Given the description of an element on the screen output the (x, y) to click on. 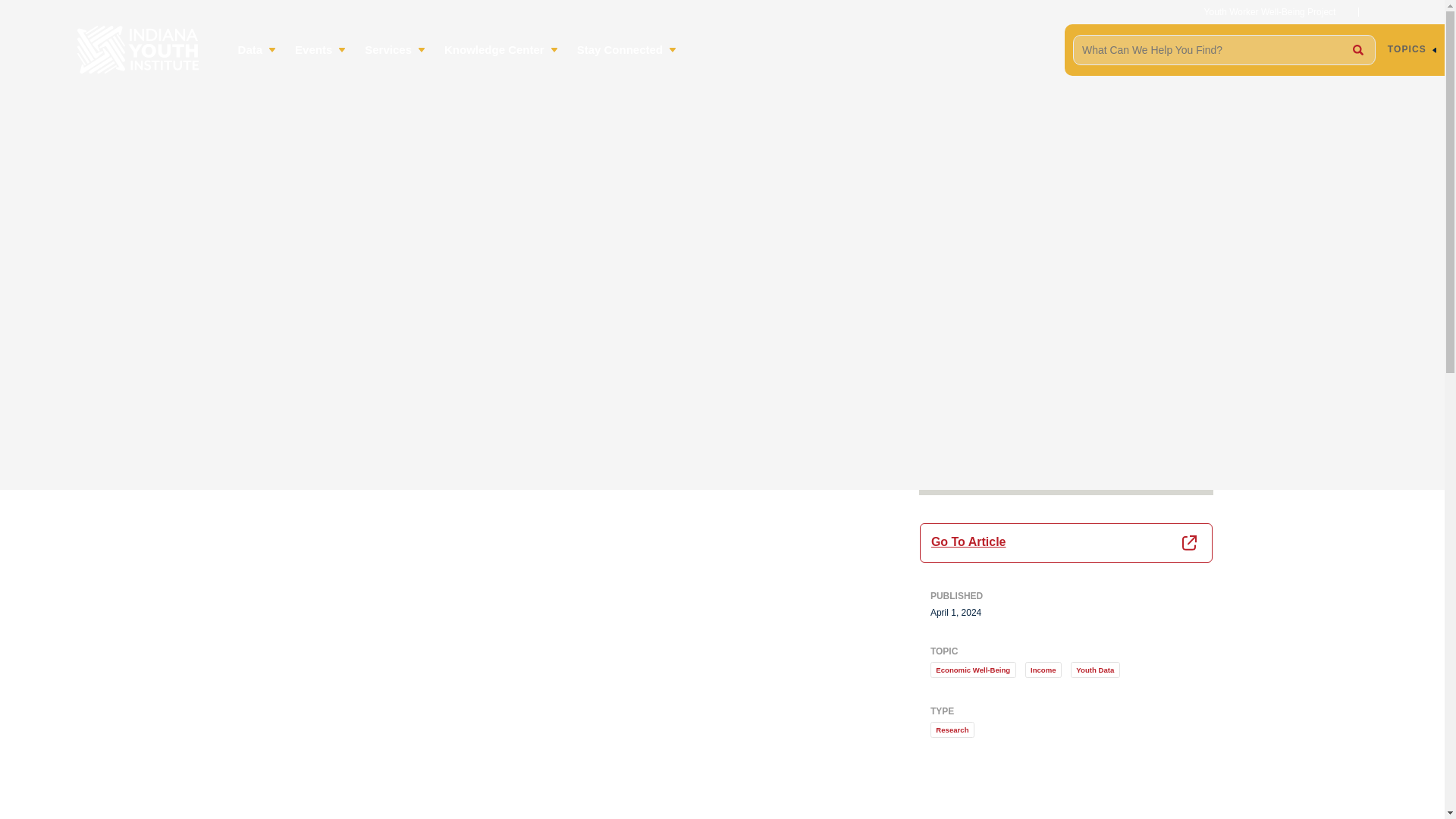
Data (259, 49)
Knowledge Center (502, 49)
Events (321, 49)
Stay Connected (628, 49)
Services (396, 49)
Youth Worker Well-Being Project (1270, 11)
